Given the description of an element on the screen output the (x, y) to click on. 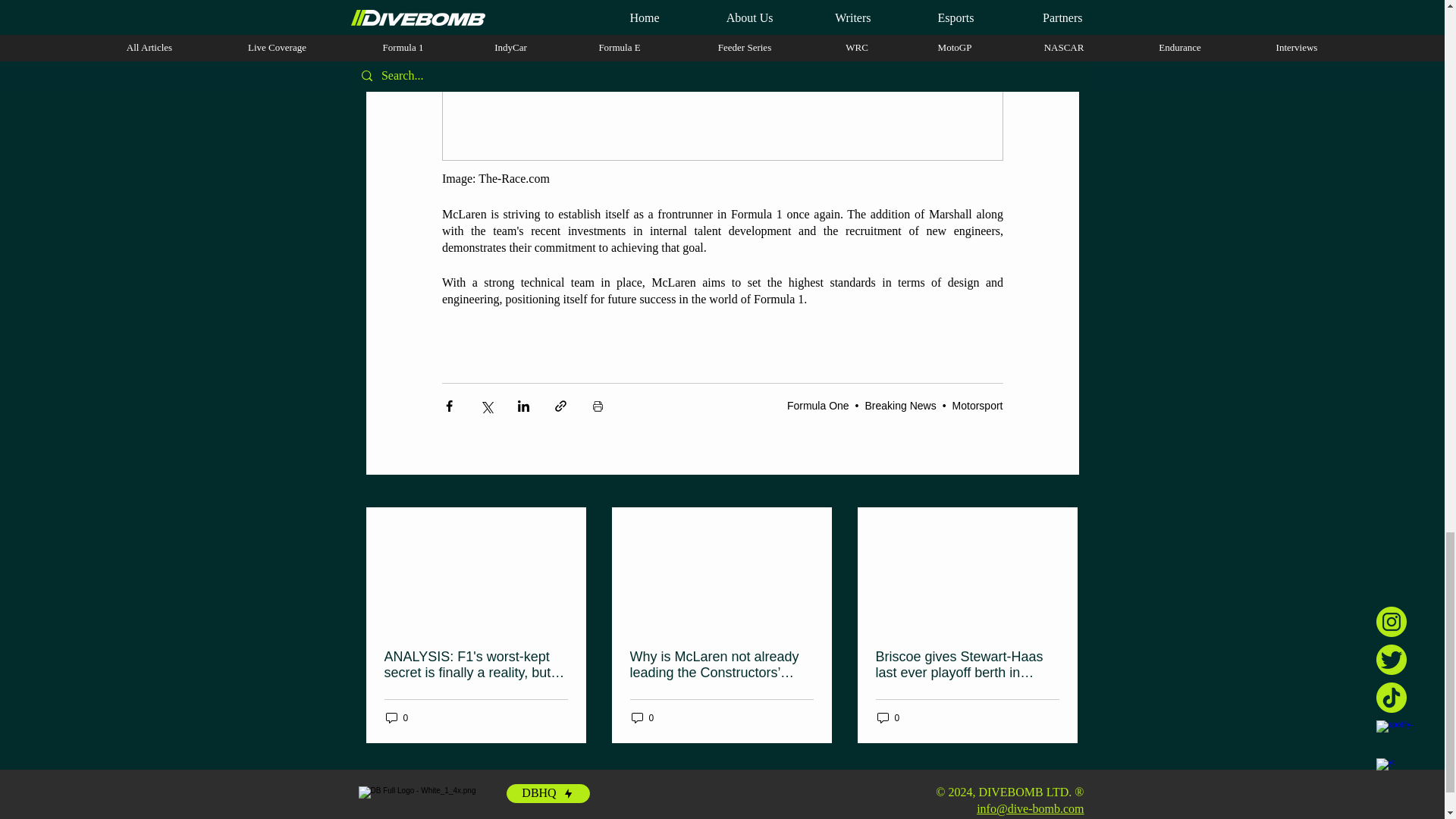
0 (396, 717)
Motorsport (977, 405)
Formula One (817, 405)
Breaking News (900, 405)
